Given the description of an element on the screen output the (x, y) to click on. 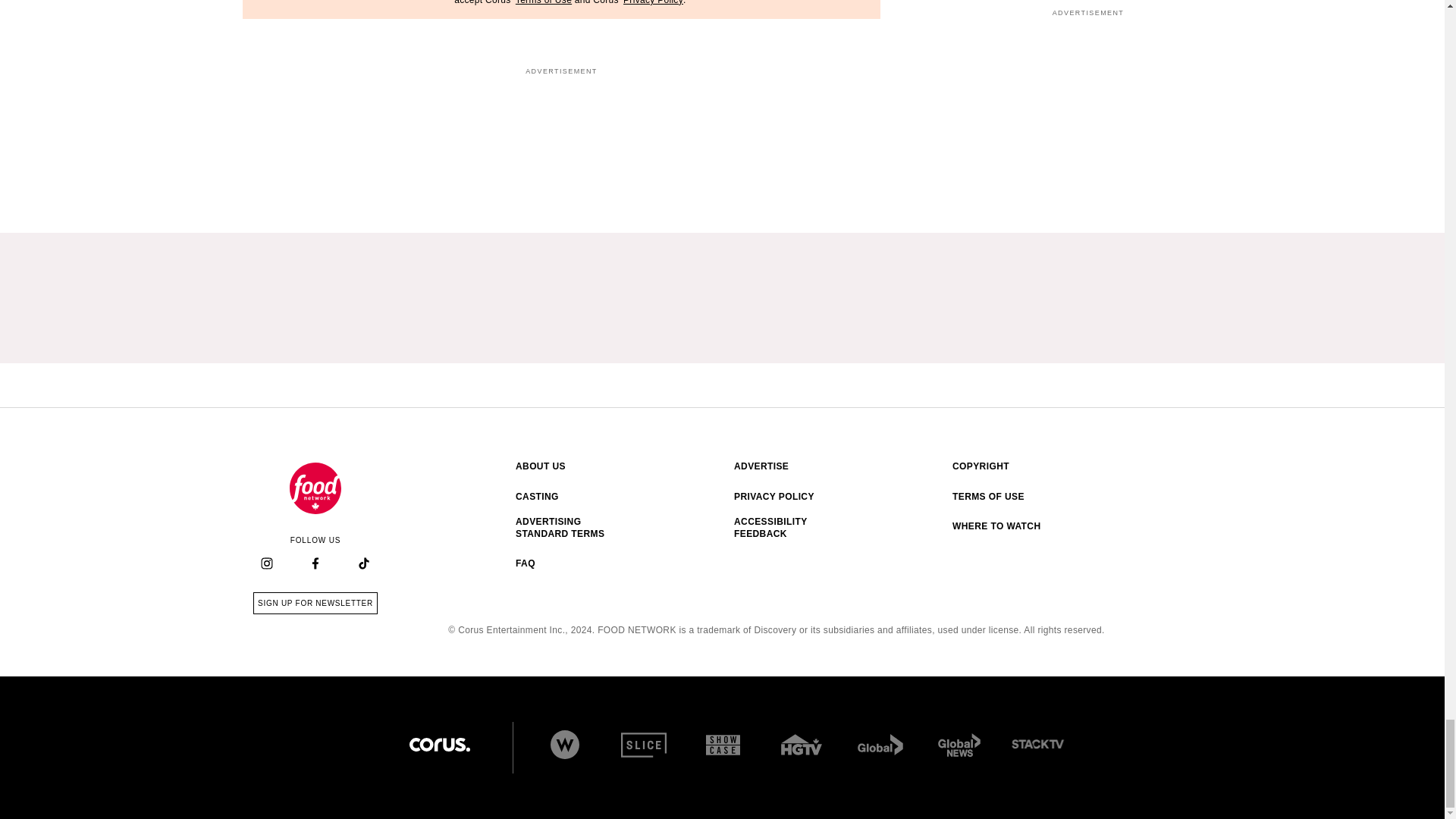
Food Network Canada home (314, 488)
Instagram (266, 563)
Follow Food Network Canada on Instagram (267, 564)
Follow Food Network Canada on Facebook (315, 564)
